Given the description of an element on the screen output the (x, y) to click on. 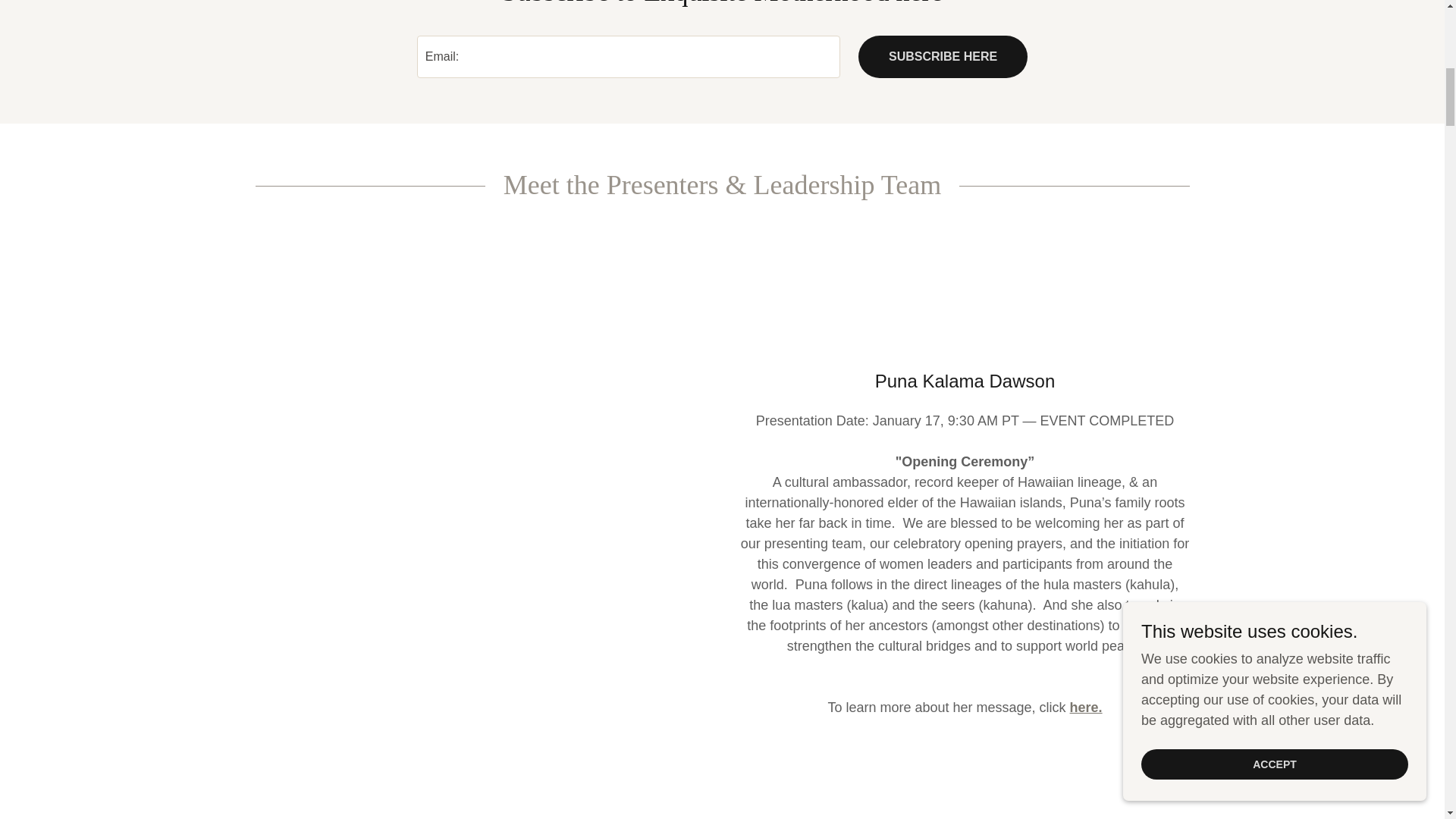
SUBSCRIBE HERE (943, 56)
here. (1086, 707)
